Given the description of an element on the screen output the (x, y) to click on. 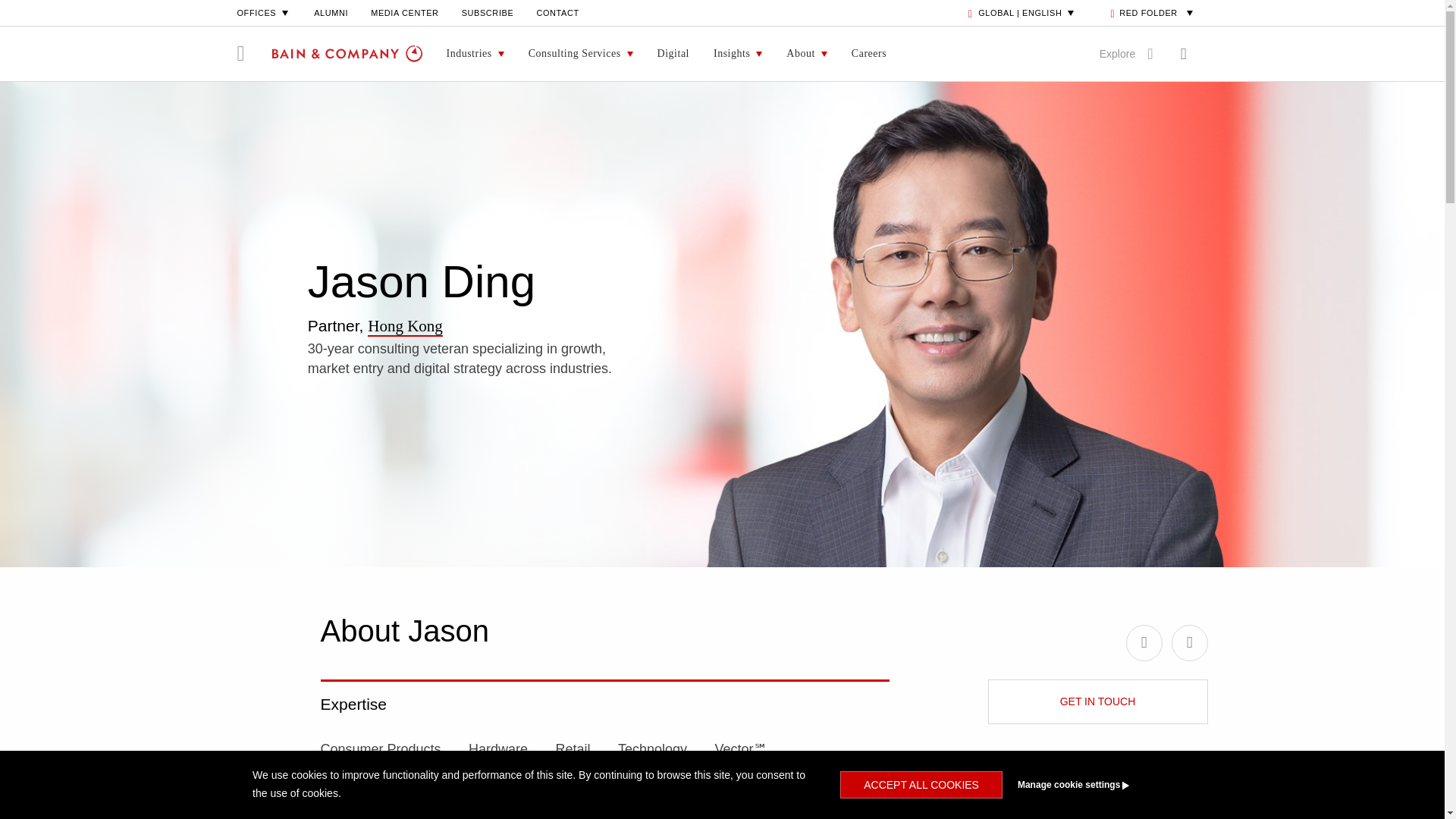
OFFICES (263, 12)
Manage cookie settings (1101, 784)
ACCEPT ALL COOKIES (921, 784)
